Given the description of an element on the screen output the (x, y) to click on. 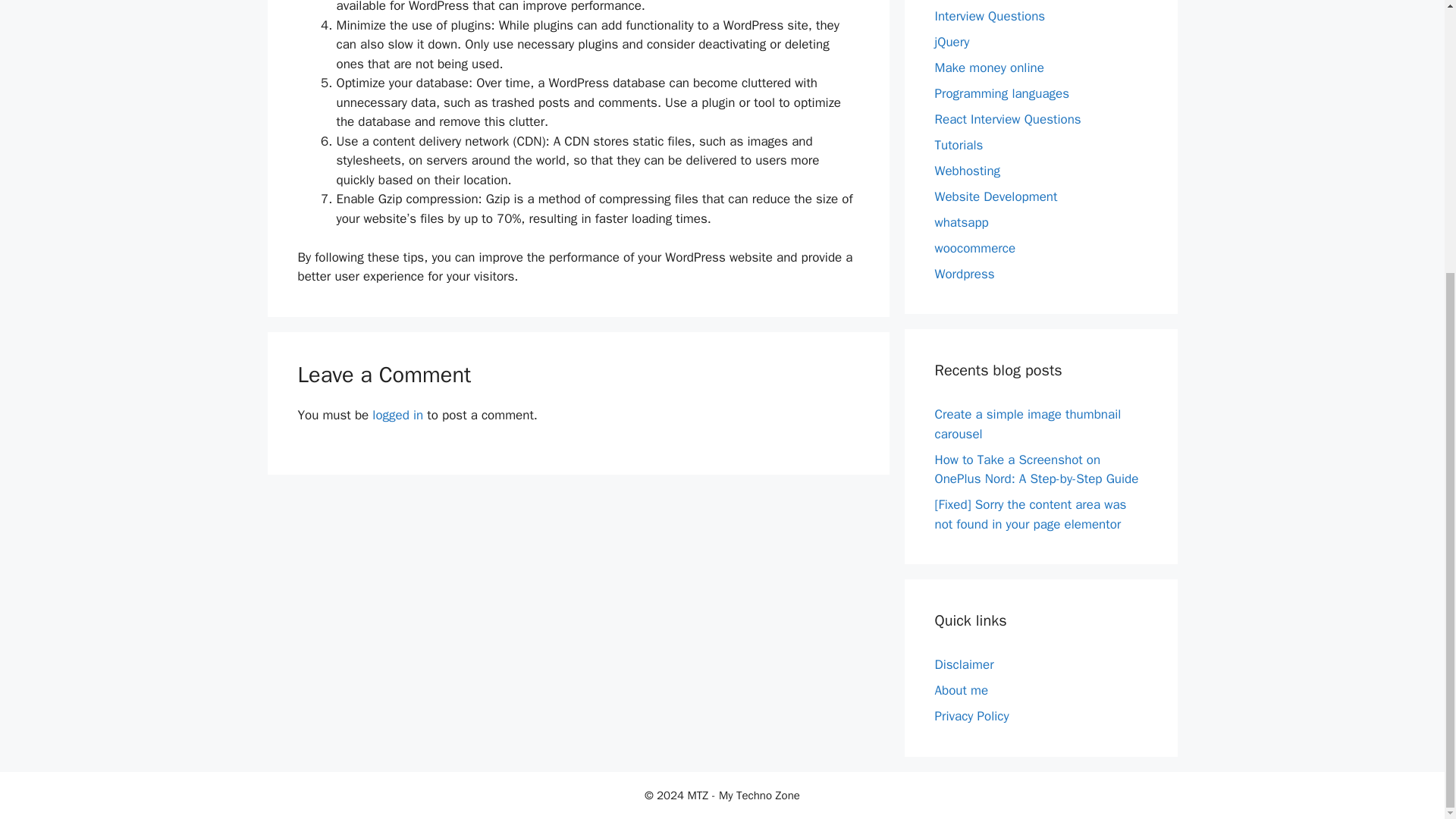
About me (961, 690)
Create a simple image thumbnail carousel (1027, 424)
logged in (397, 415)
Wordpress (964, 273)
Tutorials (958, 145)
Interview Questions (989, 16)
Privacy Policy (971, 715)
whatsapp (961, 222)
Programming languages (1001, 93)
React Interview Questions (1007, 119)
jQuery (951, 41)
Webhosting (967, 170)
Website Development (995, 196)
Make money online (988, 67)
